Given the description of an element on the screen output the (x, y) to click on. 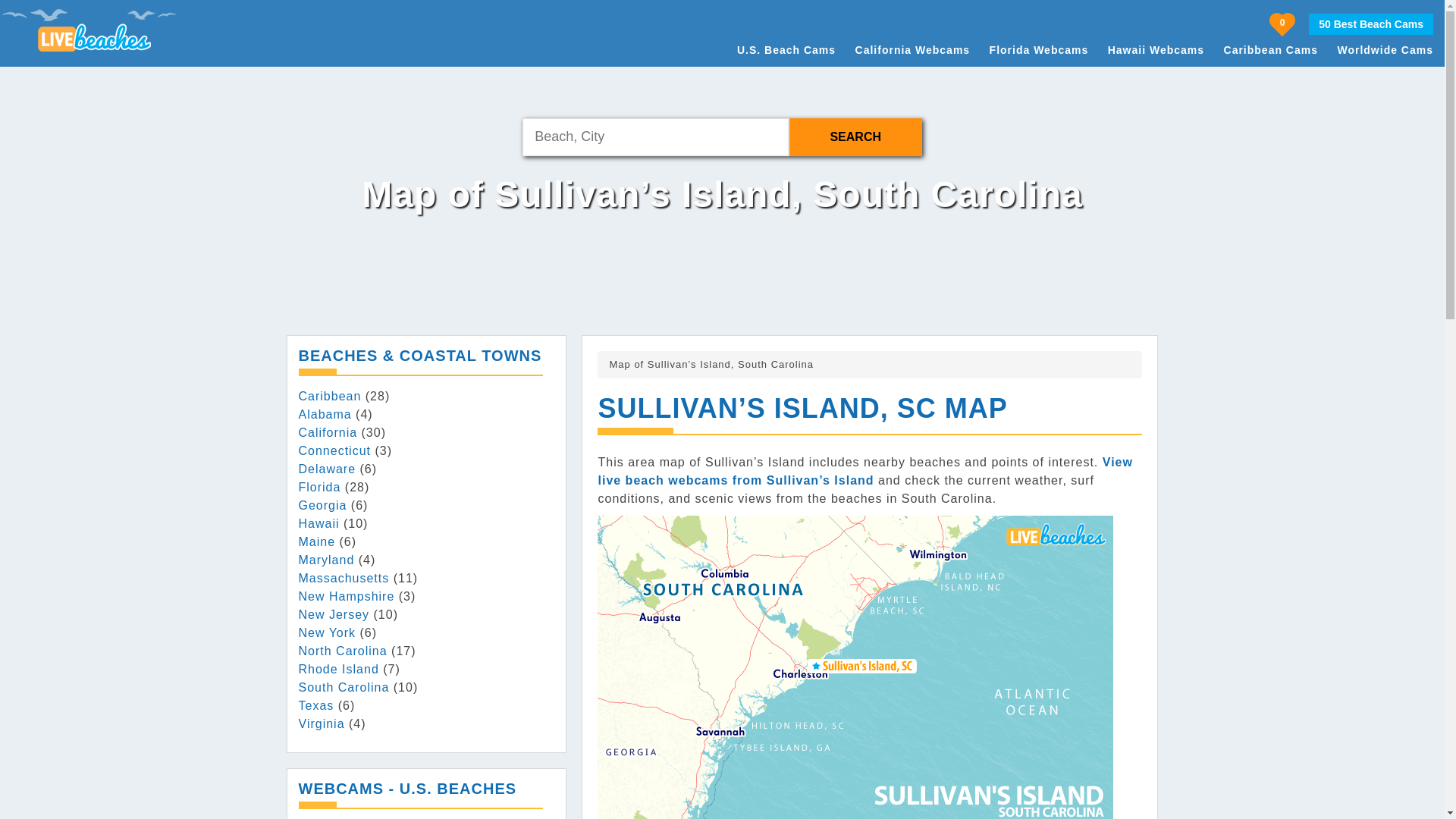
U.S. Beach Cams (785, 50)
Hawaii (318, 522)
Maine (317, 541)
Alabama (325, 413)
Connecticut (334, 450)
New Hampshire (346, 595)
Search (855, 136)
California Webcams (913, 50)
Georgia (322, 504)
New Jersey (333, 614)
Hawaii Webcams (1156, 50)
Worldwide Cams (1384, 50)
Maryland (326, 559)
Florida Webcams (1039, 50)
Massachusetts (344, 577)
